Given the description of an element on the screen output the (x, y) to click on. 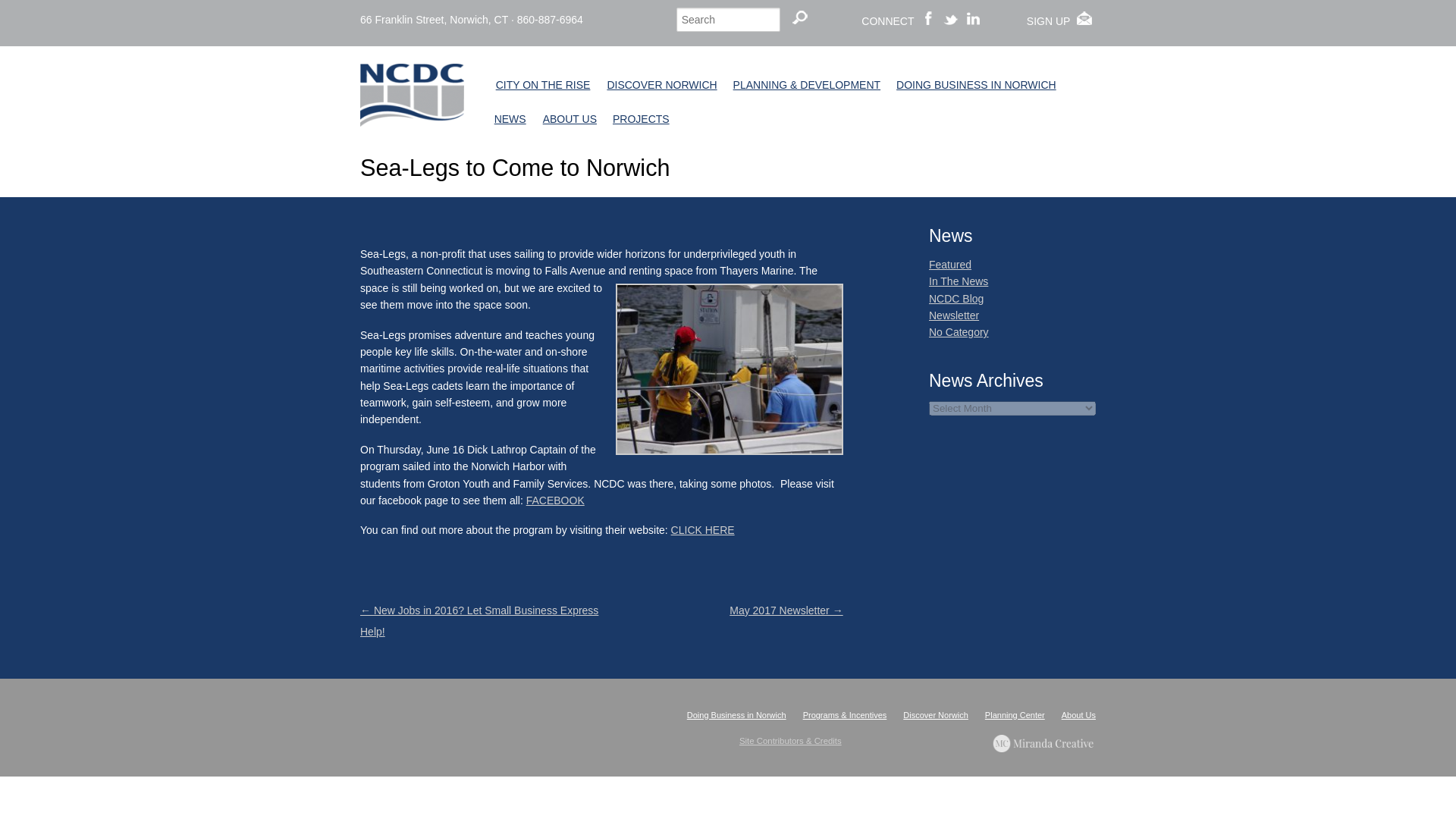
ABOUT US (569, 119)
NEWS (510, 119)
NCDC (411, 113)
DISCOVER NORWICH (660, 84)
CITY ON THE RISE (542, 84)
DOING BUSINESS IN NORWICH (975, 84)
